Given the description of an element on the screen output the (x, y) to click on. 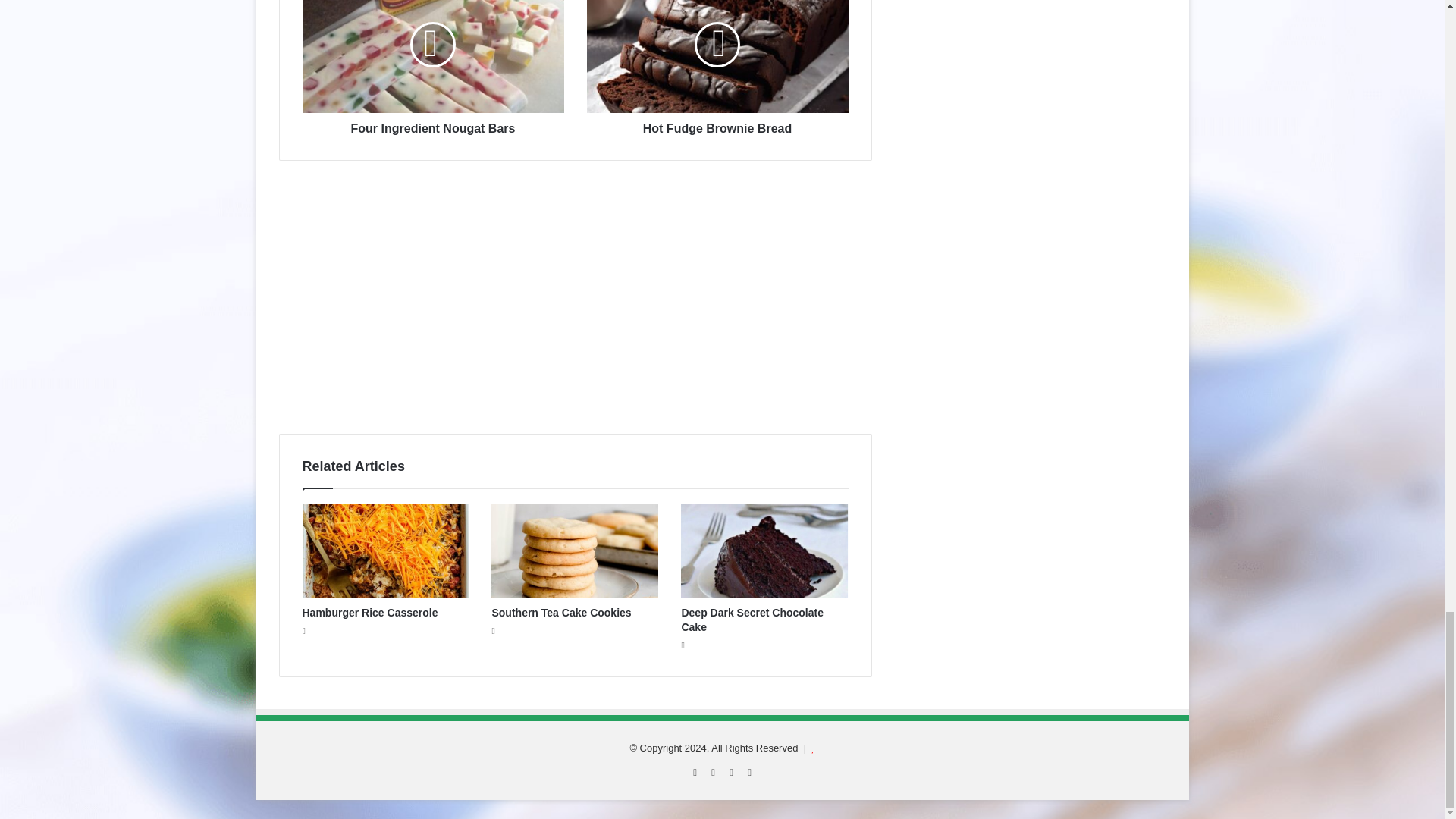
Four Ingredient Nougat Bars (432, 56)
Instagram (748, 772)
Advertisement (575, 305)
Hot Fudge Brownie Bread (717, 125)
Four Ingredient Nougat Bars (432, 125)
Southern Tea Cake Cookies (561, 612)
Deep Dark Secret Chocolate Cake (752, 619)
YouTube (730, 772)
Facebook (694, 772)
Hamburger Rice Casserole (369, 612)
